Given the description of an element on the screen output the (x, y) to click on. 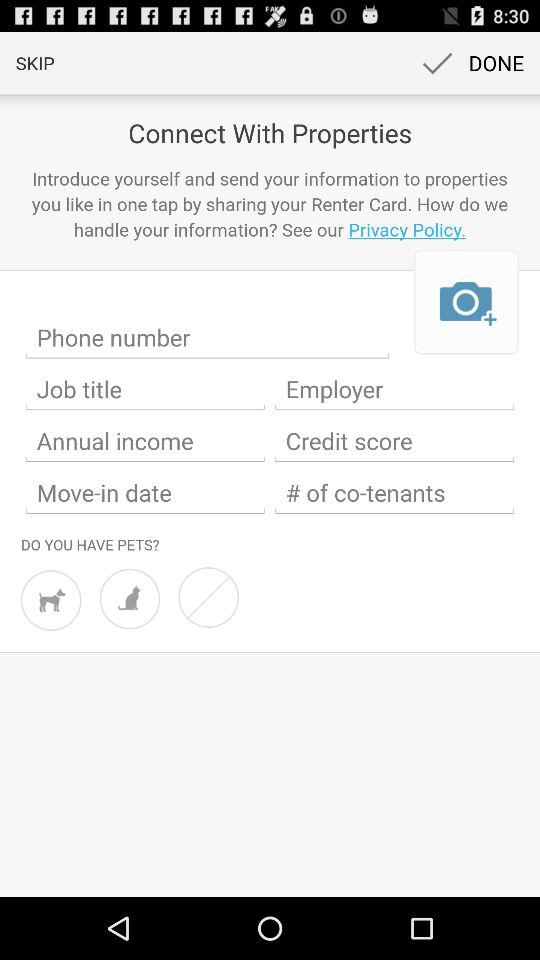
select no pets option (208, 597)
